Given the description of an element on the screen output the (x, y) to click on. 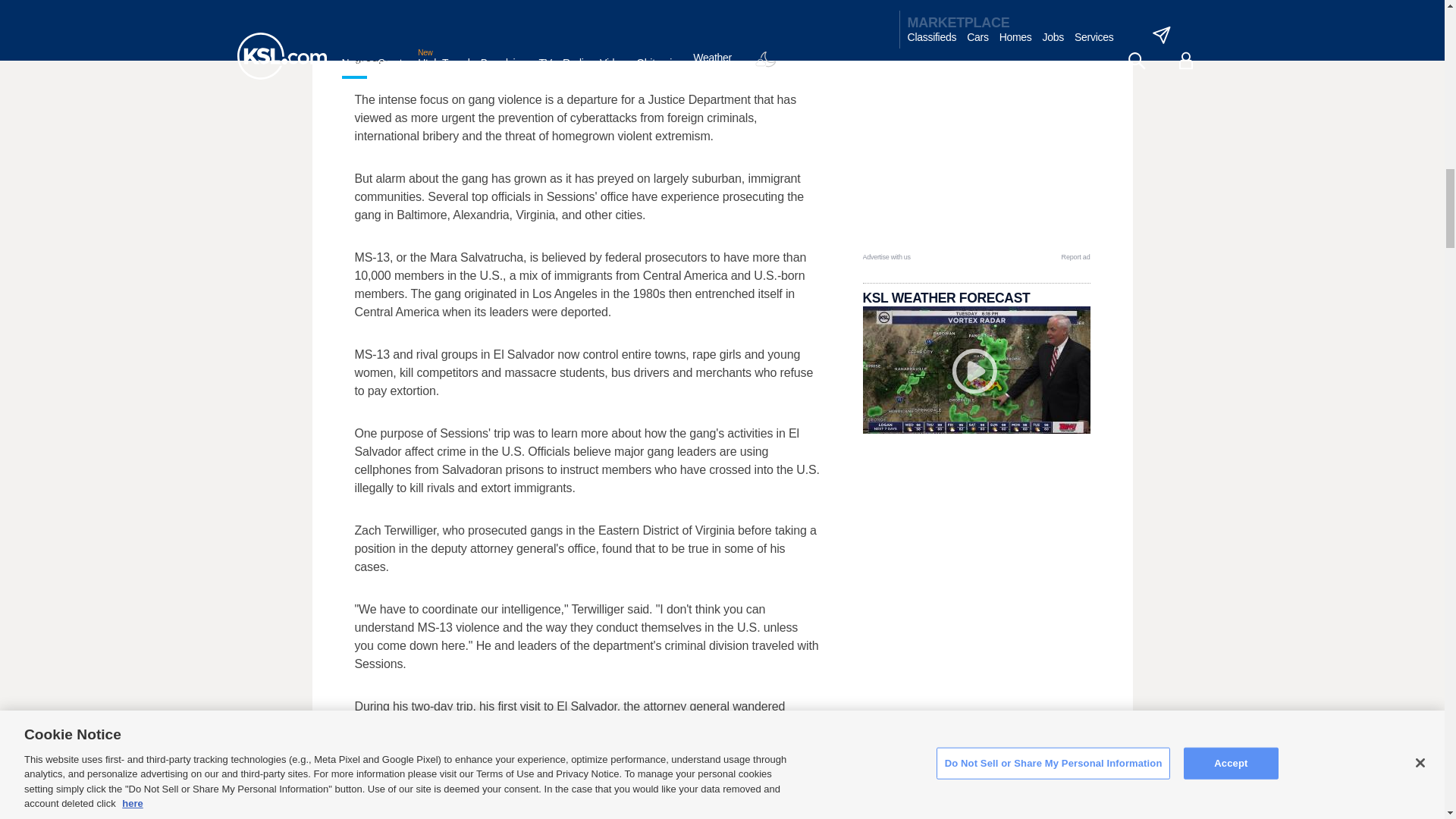
3rd party ad content (976, 155)
